Given the description of an element on the screen output the (x, y) to click on. 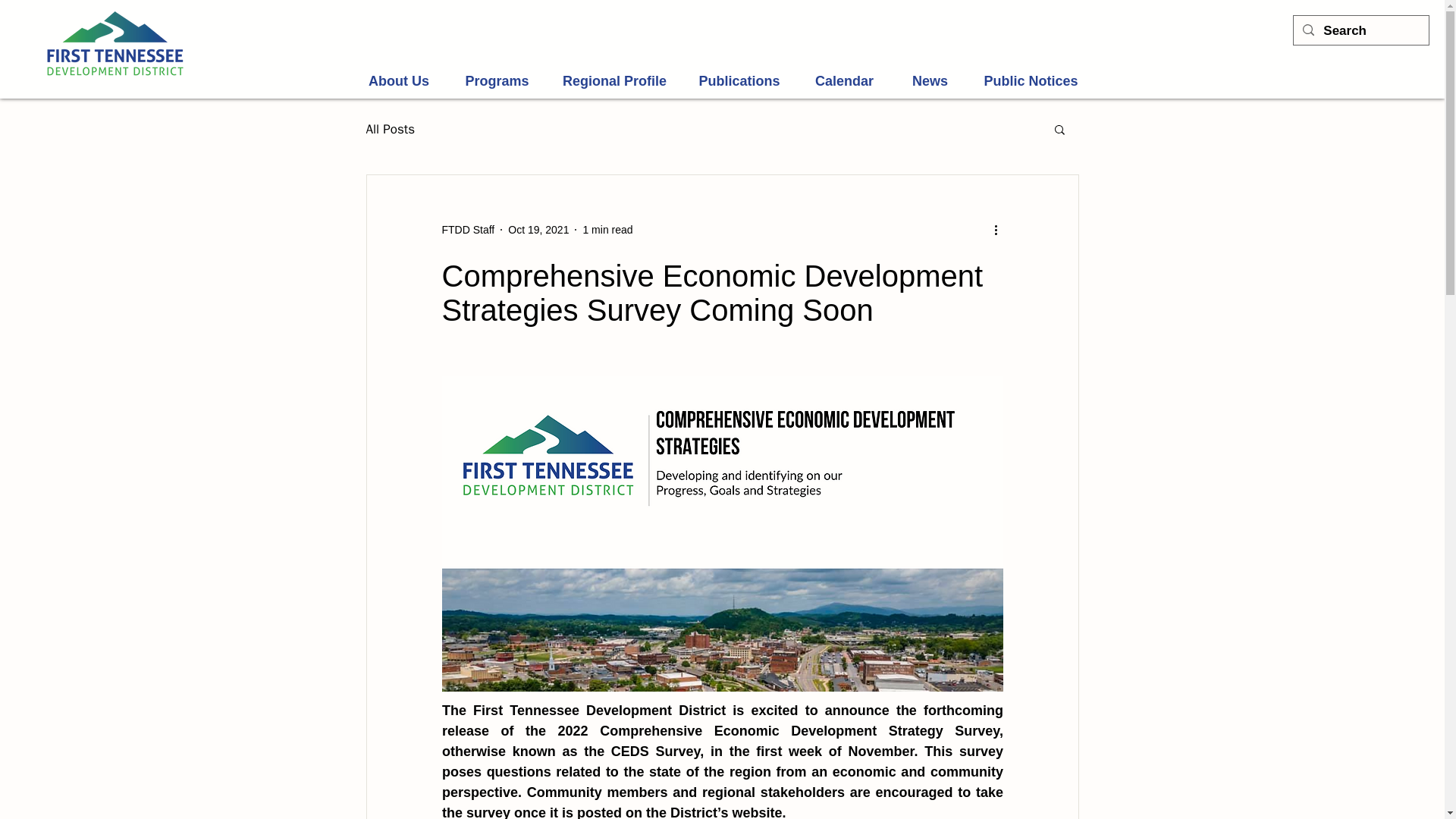
News (929, 81)
FTDD Logo (115, 43)
Calendar (843, 81)
About Us (398, 81)
1 min read (606, 228)
Regional Profile (614, 81)
Oct 19, 2021 (538, 228)
FTDD Staff (468, 229)
